Given the description of an element on the screen output the (x, y) to click on. 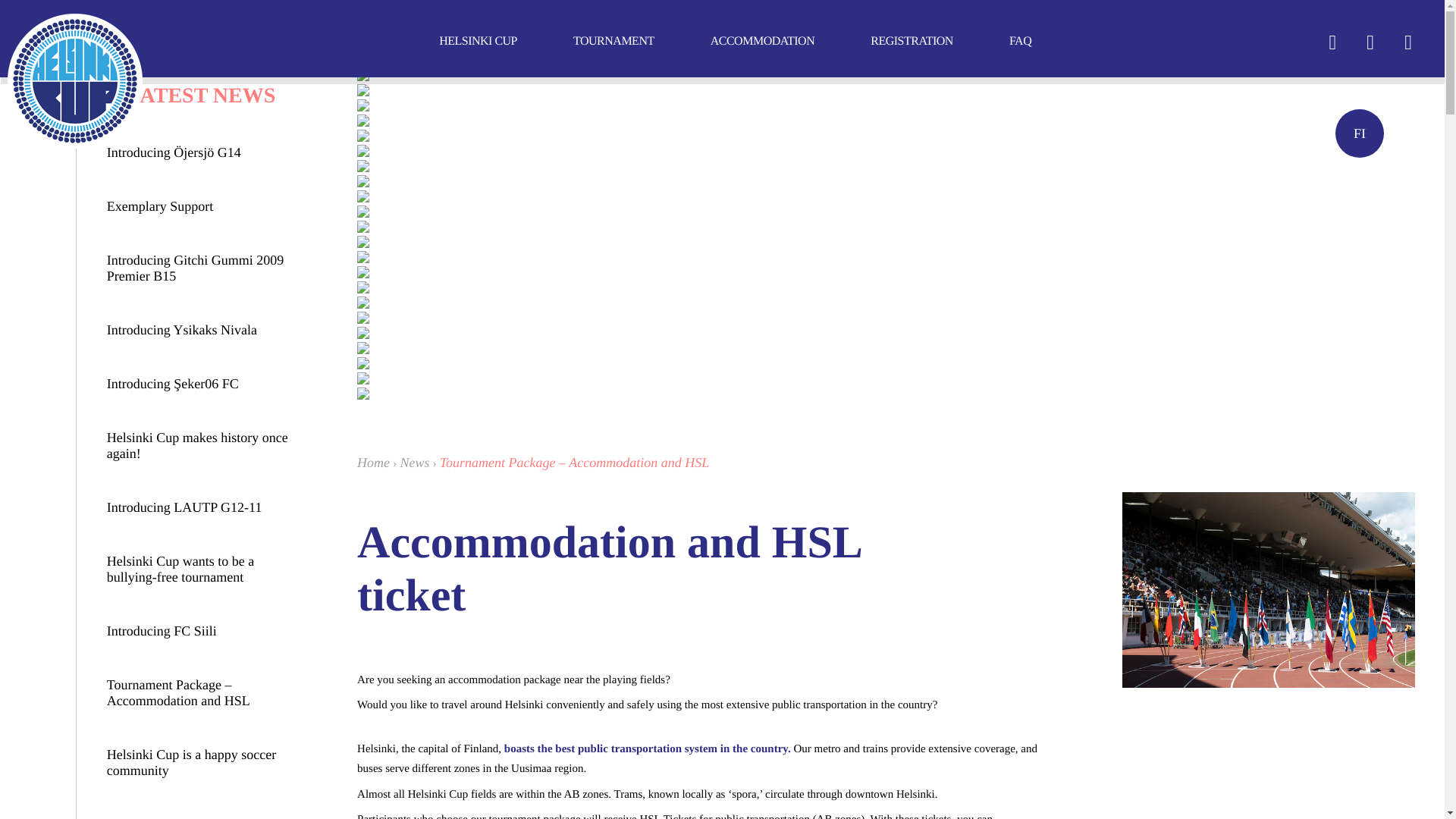
Helsinki Cup (74, 80)
Helsinki Cup wants to be a bullying-free tournament (204, 569)
TOURNAMENT (613, 41)
HELSINKI CUP (477, 41)
Introducing Ysikaks Nivala (204, 330)
FAQ (1019, 41)
Introducing LAUTP G12-11 (204, 507)
Helsinki Cup makes history once again! (204, 445)
Exemplary Support (204, 206)
FI (1359, 133)
FI (1359, 133)
Introducing Gitchi Gummi 2009 Premier B15 (204, 268)
REGISTRATION (911, 41)
ACCOMMODATION (762, 41)
